Given the description of an element on the screen output the (x, y) to click on. 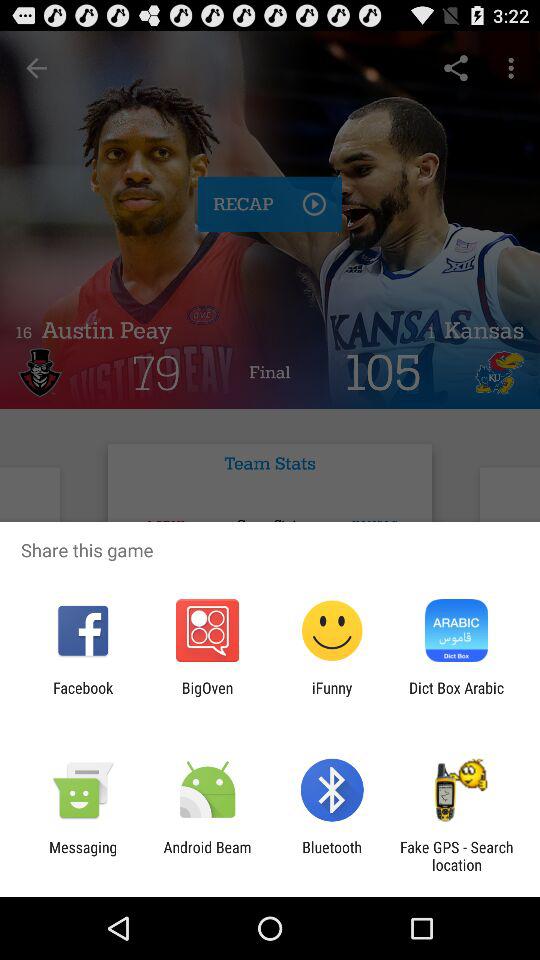
turn off the app to the right of the bluetooth item (456, 856)
